Given the description of an element on the screen output the (x, y) to click on. 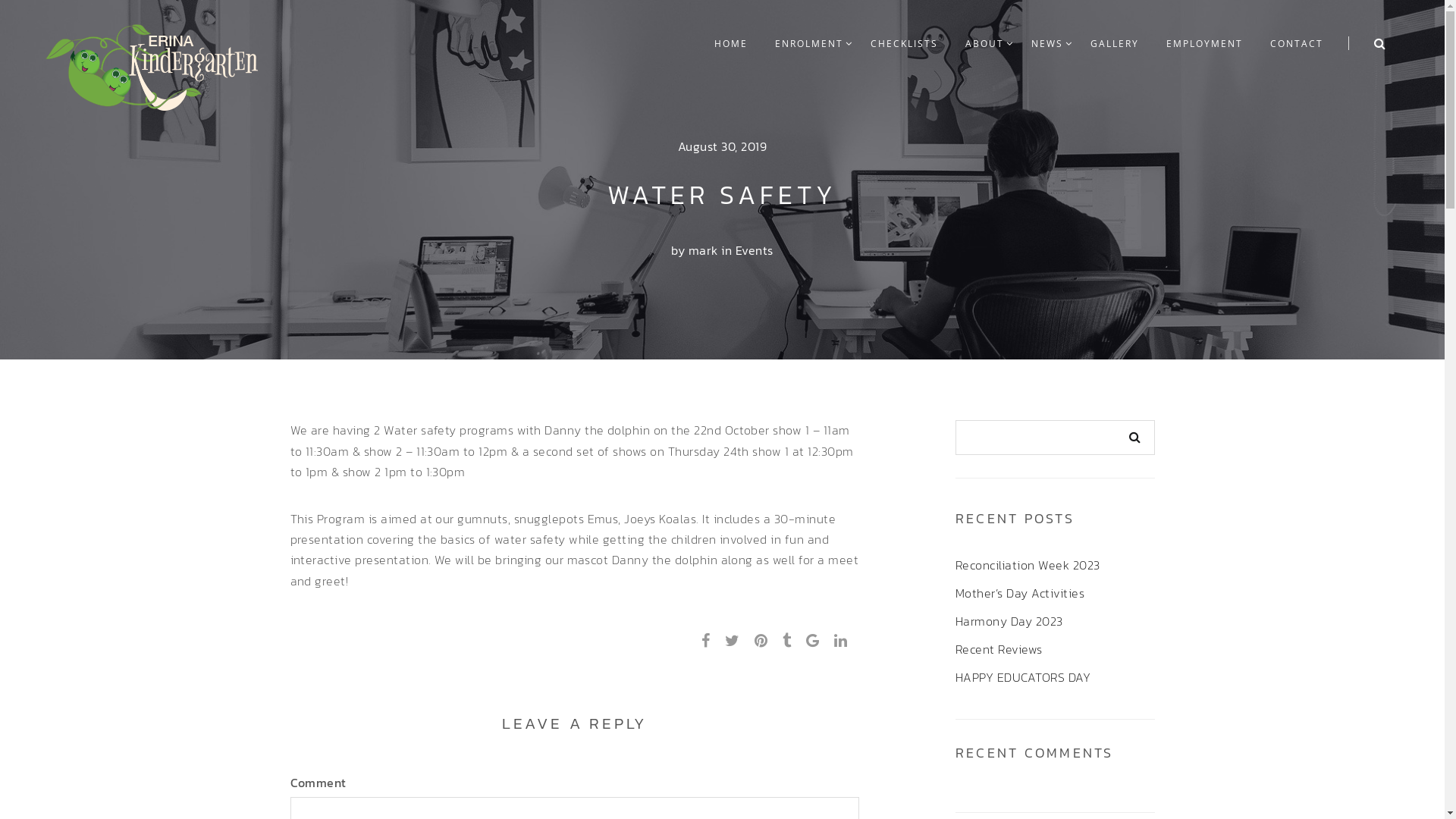
ERINA KINDERGARTEN Element type: hover (151, 64)
HAPPY EDUCATORS DAY Element type: text (1022, 677)
CONTACT Element type: text (1296, 43)
Events Element type: text (754, 250)
CHECKLISTS Element type: text (903, 43)
Harmony Day 2023 Element type: text (1009, 620)
ABOUT Element type: text (984, 43)
EMPLOYMENT Element type: text (1204, 43)
Search Element type: text (1135, 437)
Reconciliation Week 2023 Element type: text (1027, 564)
GALLERY Element type: text (1114, 43)
ENROLMENT Element type: text (808, 43)
Recent Reviews Element type: text (998, 649)
HOME Element type: text (730, 43)
NEWS Element type: text (1046, 43)
